Given the description of an element on the screen output the (x, y) to click on. 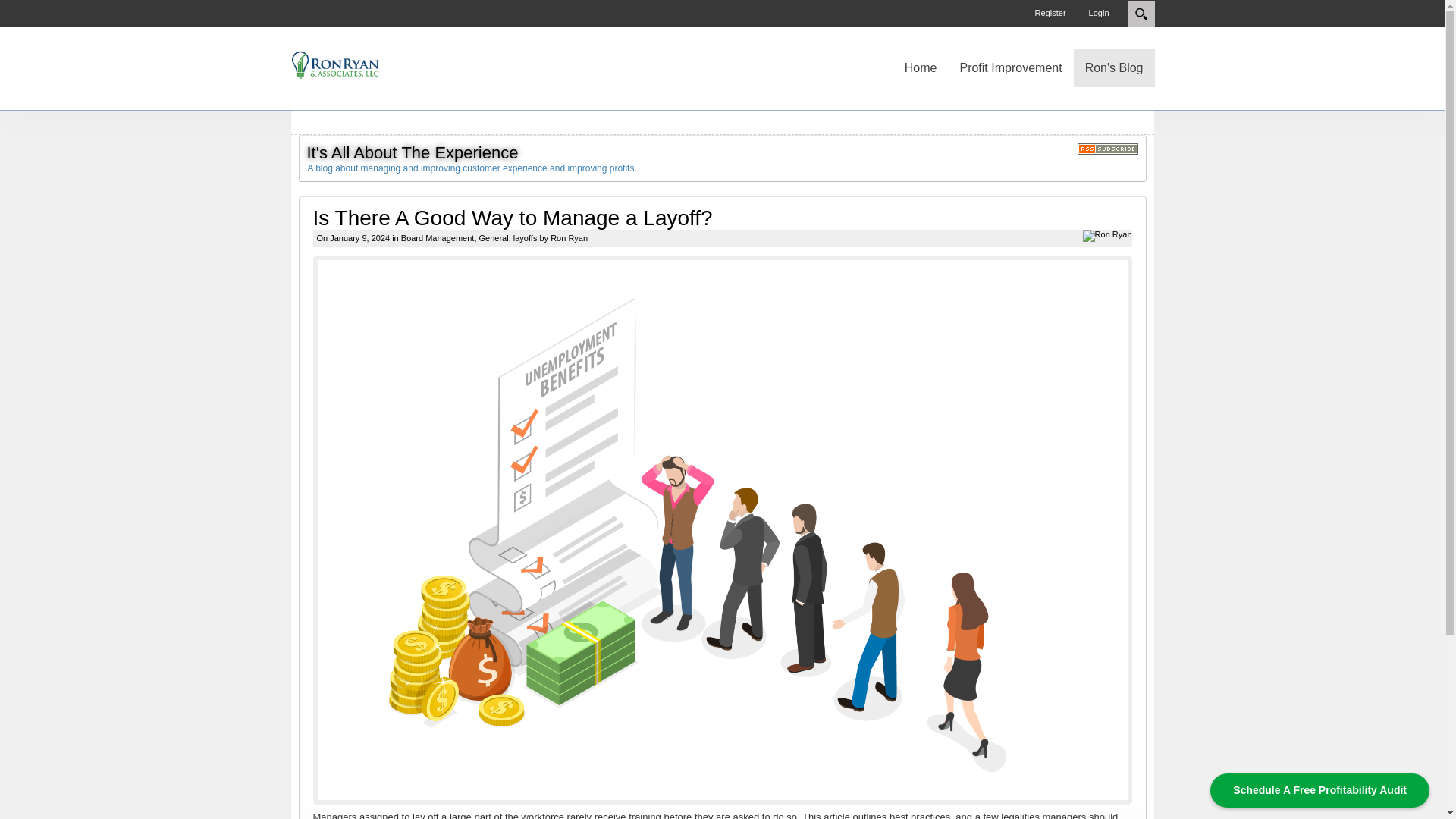
Search (1141, 13)
layoffs (525, 237)
Register (1050, 13)
Ron's Blog (1114, 67)
Ron Ryan (569, 237)
Home (921, 67)
Login (1099, 13)
Is There A Good Way to Manage a Layoff? (512, 218)
General (493, 237)
Profit Improvement (1010, 67)
Login (1099, 13)
Board Management (437, 237)
Register (1050, 13)
